Given the description of an element on the screen output the (x, y) to click on. 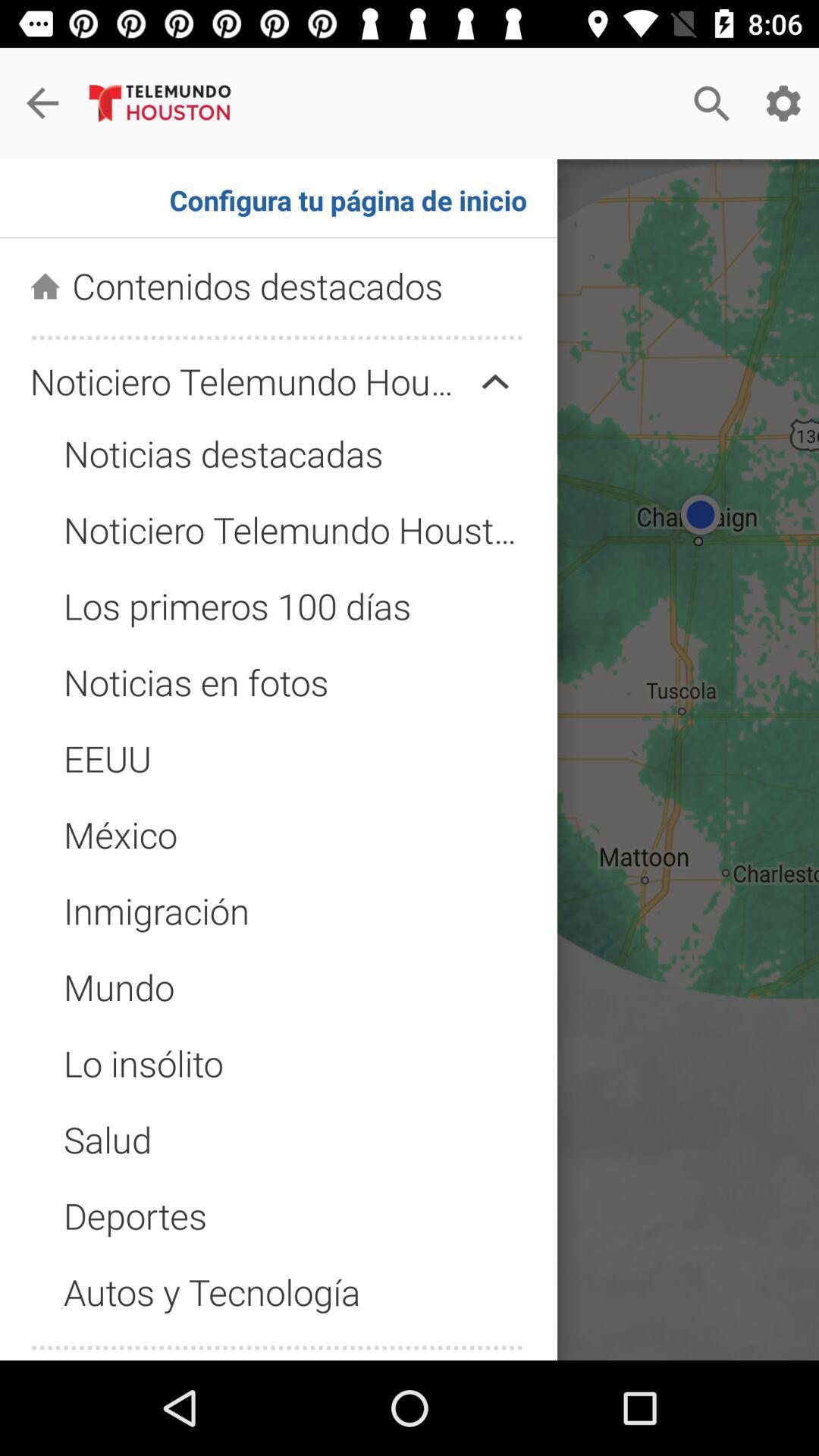
click the settings option (783, 103)
